Given the description of an element on the screen output the (x, y) to click on. 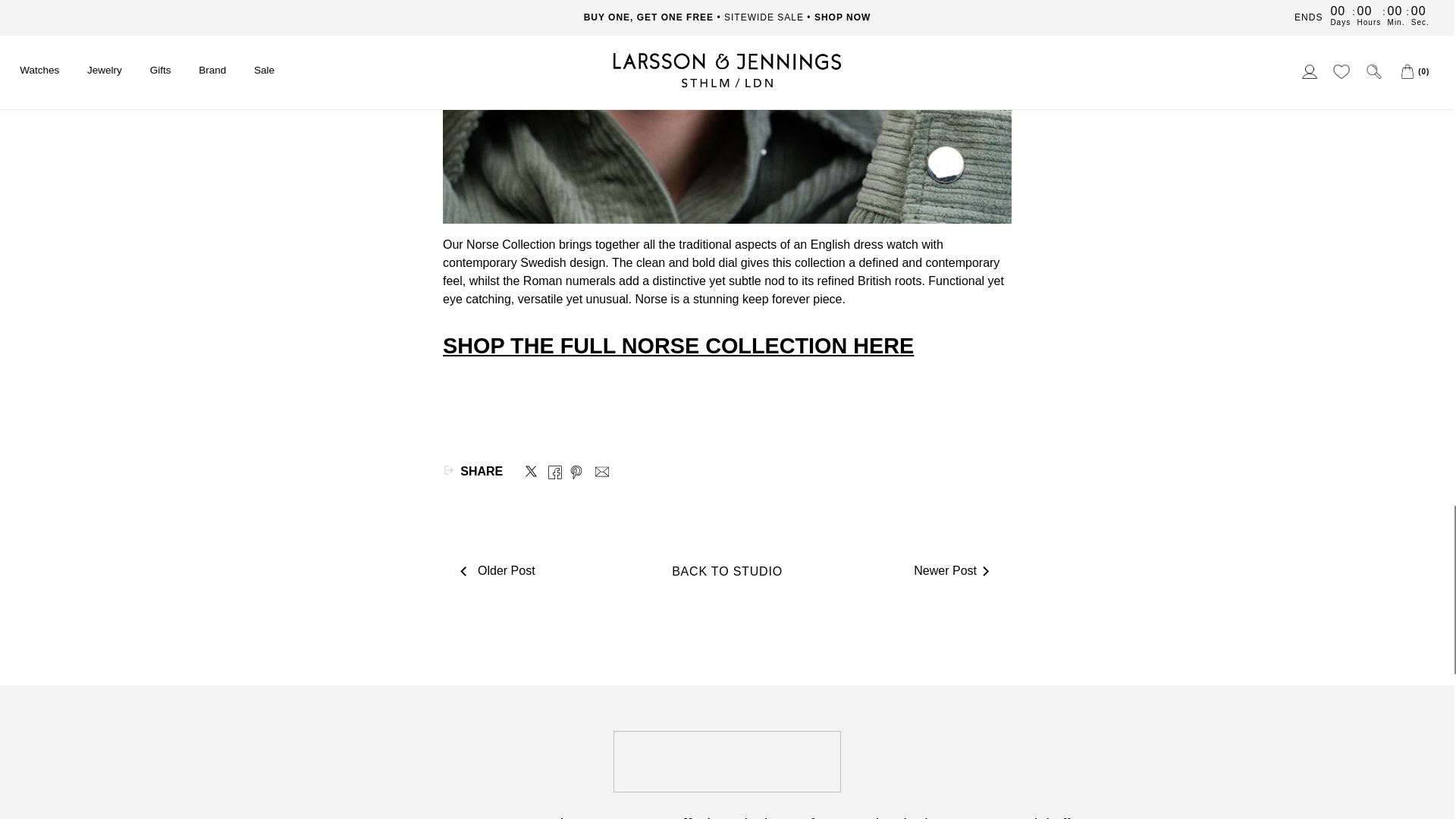
Email this to a friend (601, 470)
